Given the description of an element on the screen output the (x, y) to click on. 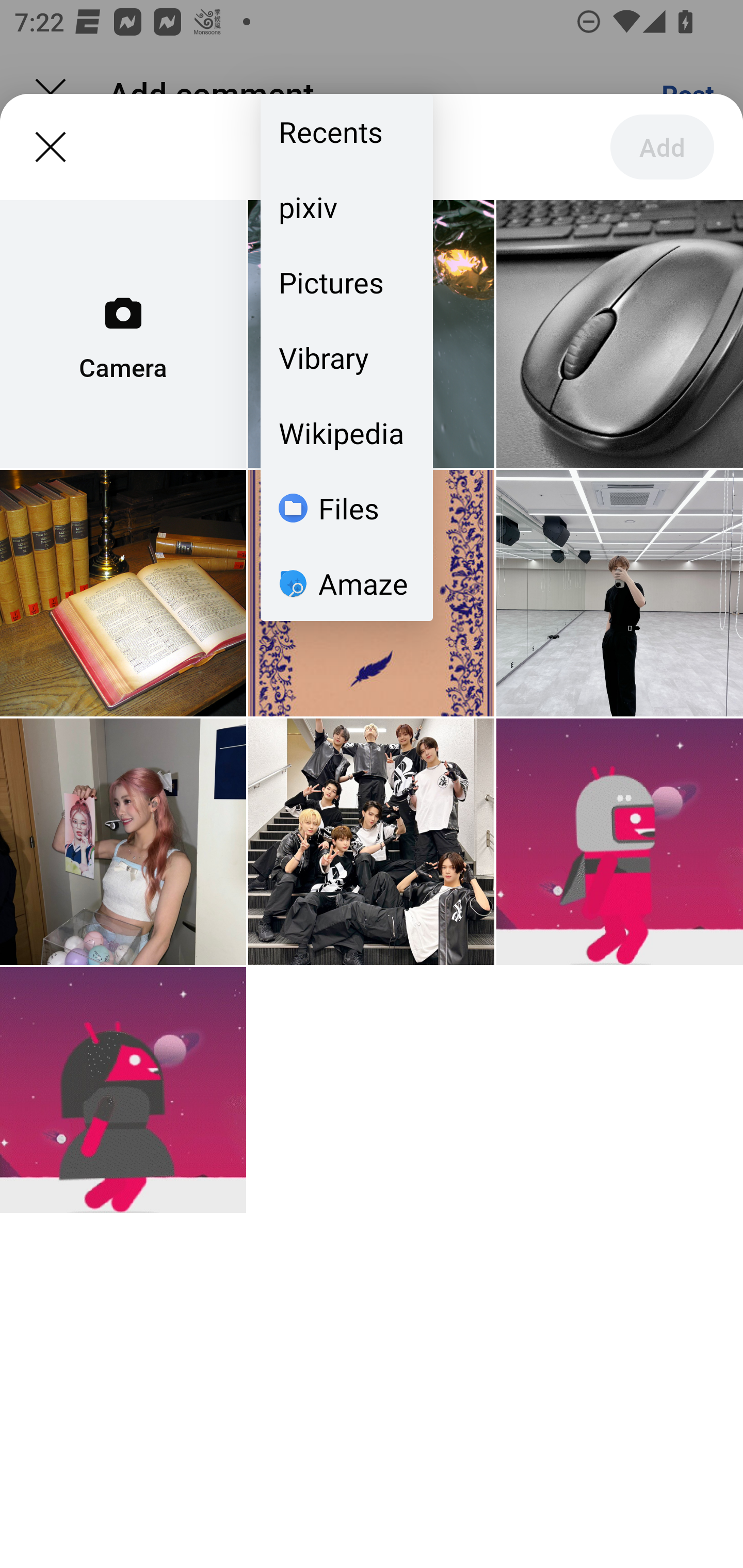
Recents (346, 131)
pixiv (346, 206)
Pictures (346, 281)
Vibrary (346, 357)
Wikipedia (346, 432)
Files (346, 507)
Amaze (346, 582)
